Given the description of an element on the screen output the (x, y) to click on. 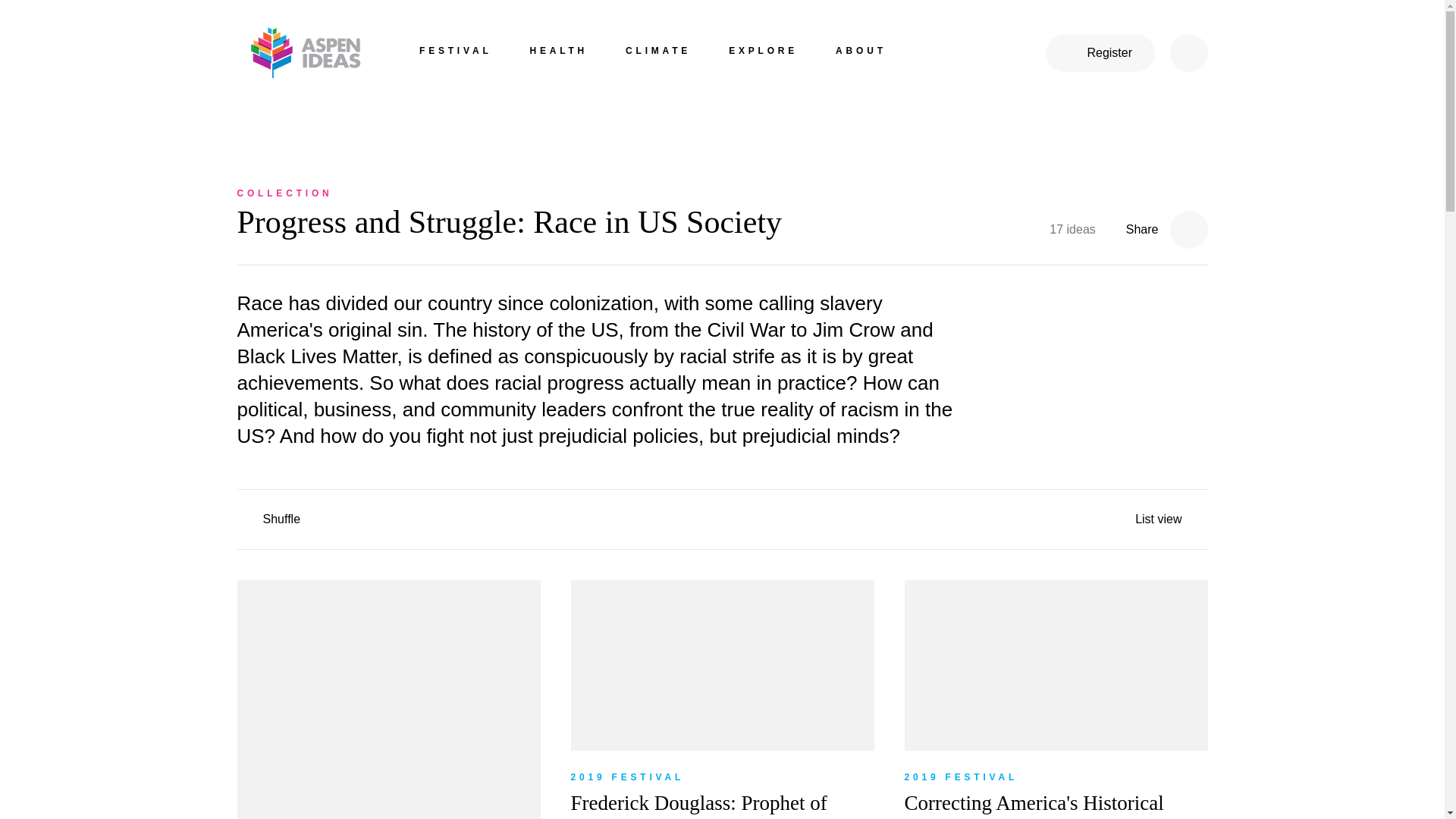
Shuffle (263, 517)
CLIMATE (658, 52)
List view (1166, 517)
FESTIVAL (455, 52)
Share (1166, 223)
ABOUT (860, 52)
EXPLORE (763, 52)
HEALTH (558, 52)
Register (1099, 53)
